Given the description of an element on the screen output the (x, y) to click on. 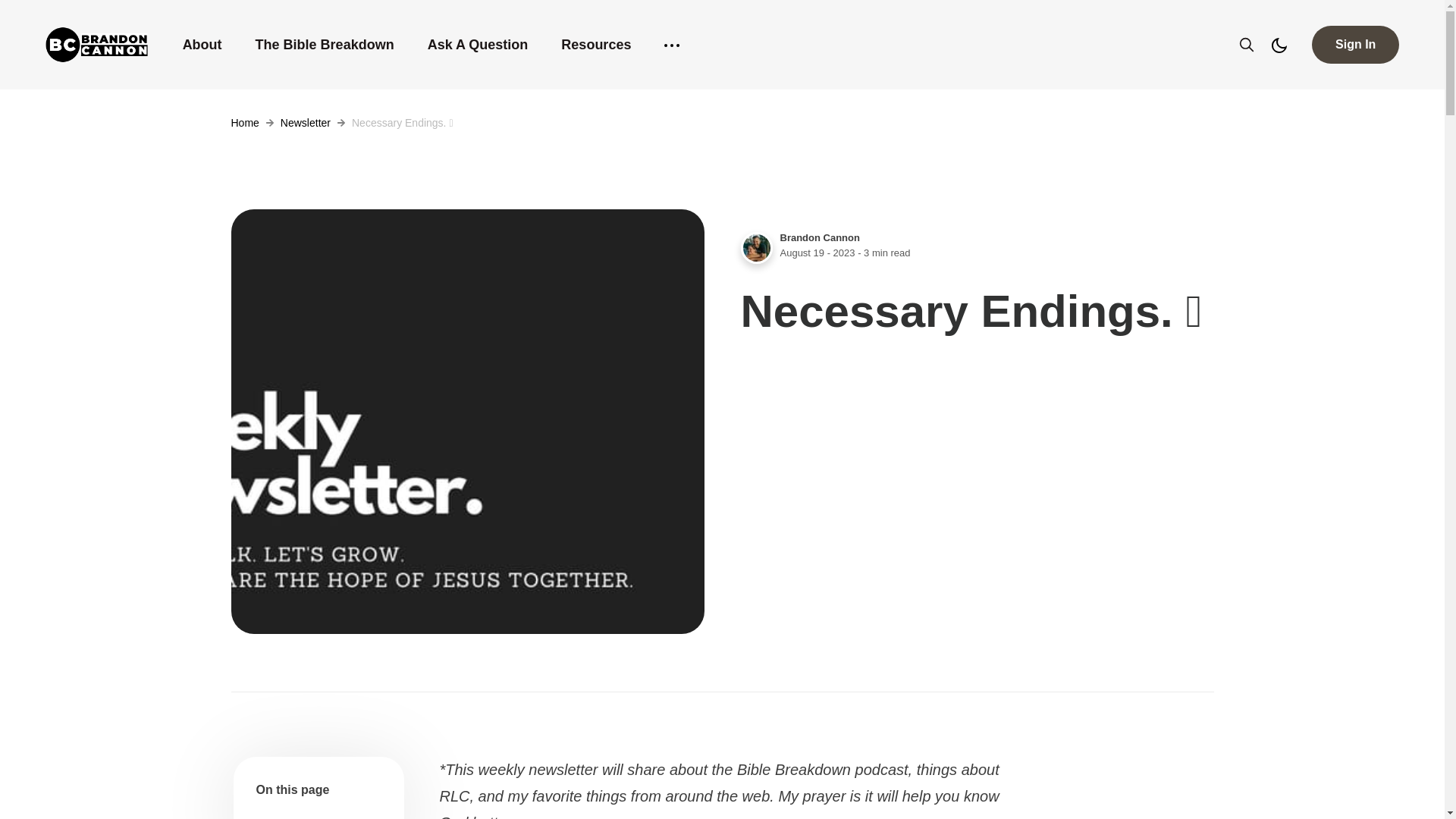
Ask A Question (477, 44)
Resources (595, 44)
Introduction (281, 818)
Newsletter (305, 122)
The Bible Breakdown (324, 44)
Home (244, 122)
Sign In (1355, 44)
Brandon Cannon (818, 237)
